Given the description of an element on the screen output the (x, y) to click on. 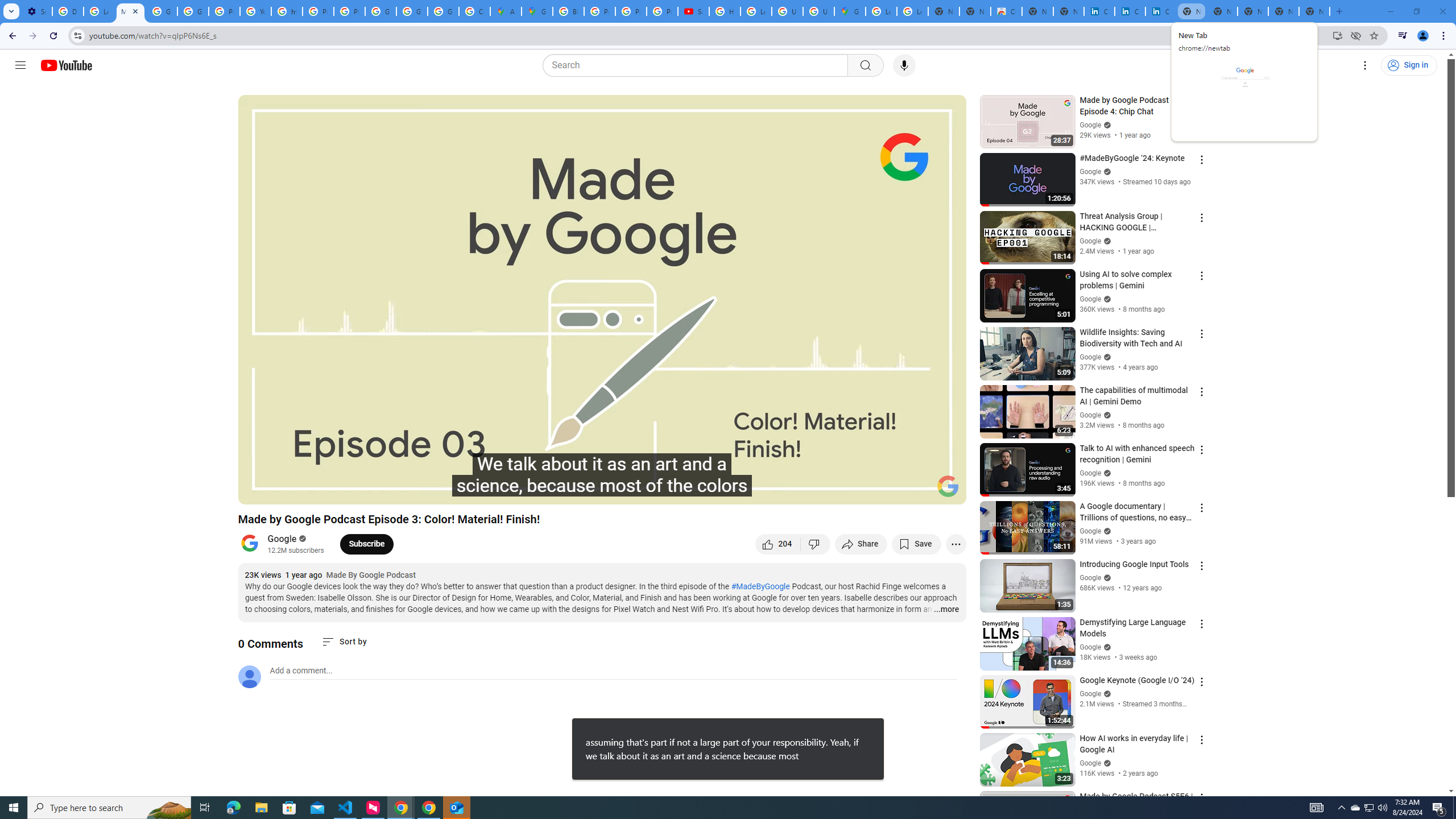
How Chrome protects your passwords - Google Chrome Help (724, 11)
Made By Google Podcast (371, 575)
Blogger Policies and Guidelines - Transparency Center (568, 11)
like this video along with 204 other people (777, 543)
Verified (1106, 762)
Privacy Help Center - Policies Help (223, 11)
Google (282, 538)
Privacy Help Center - Policies Help (599, 11)
Google Chrome - 3 running windows (400, 807)
Turn off Live Caption for now (873, 728)
Settings (1365, 65)
